Given the description of an element on the screen output the (x, y) to click on. 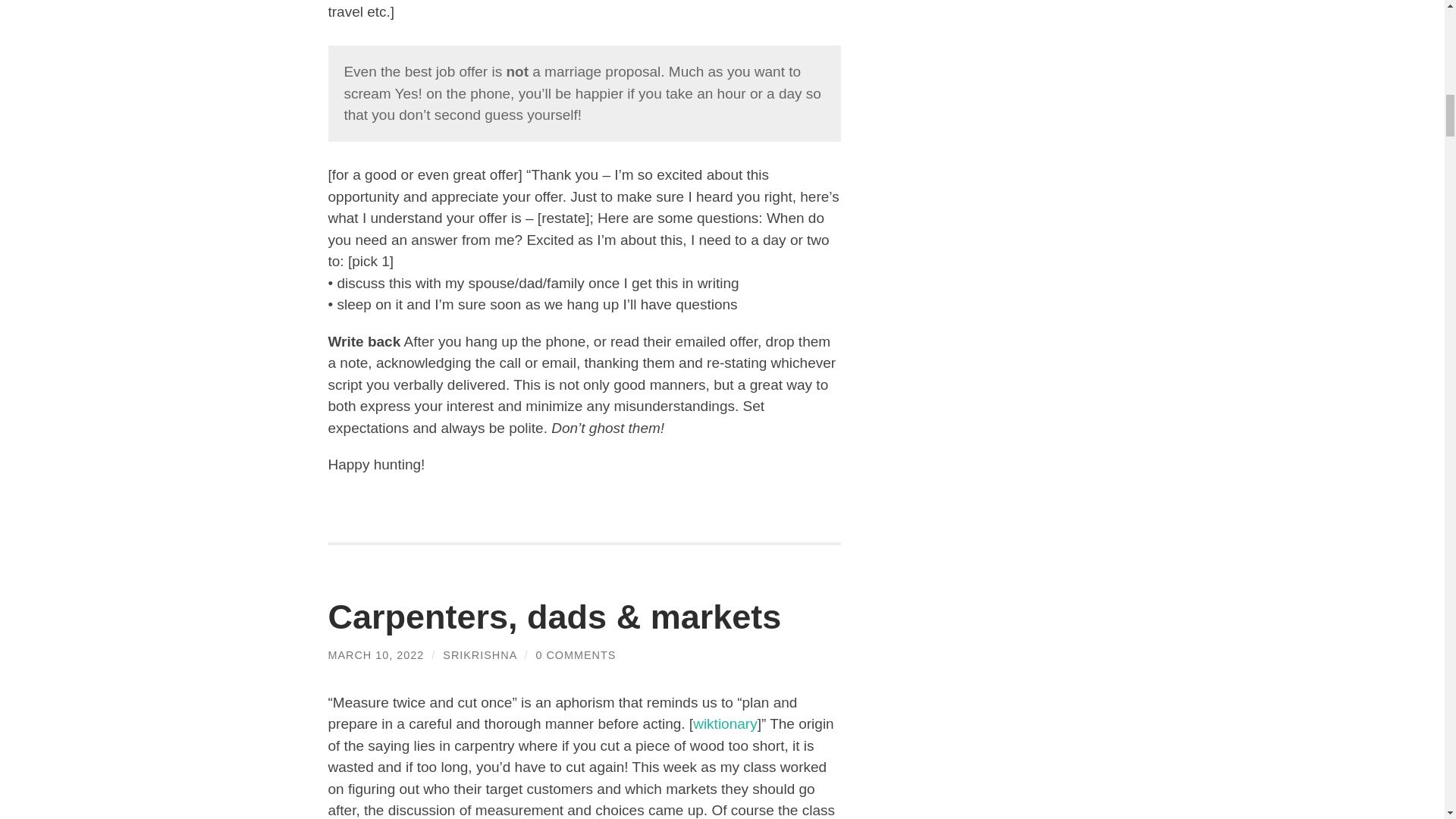
SRIKRISHNA (479, 654)
wiktionary (725, 723)
MARCH 10, 2022 (375, 654)
Posts by Srikrishna (479, 654)
0 COMMENTS (575, 654)
